Given the description of an element on the screen output the (x, y) to click on. 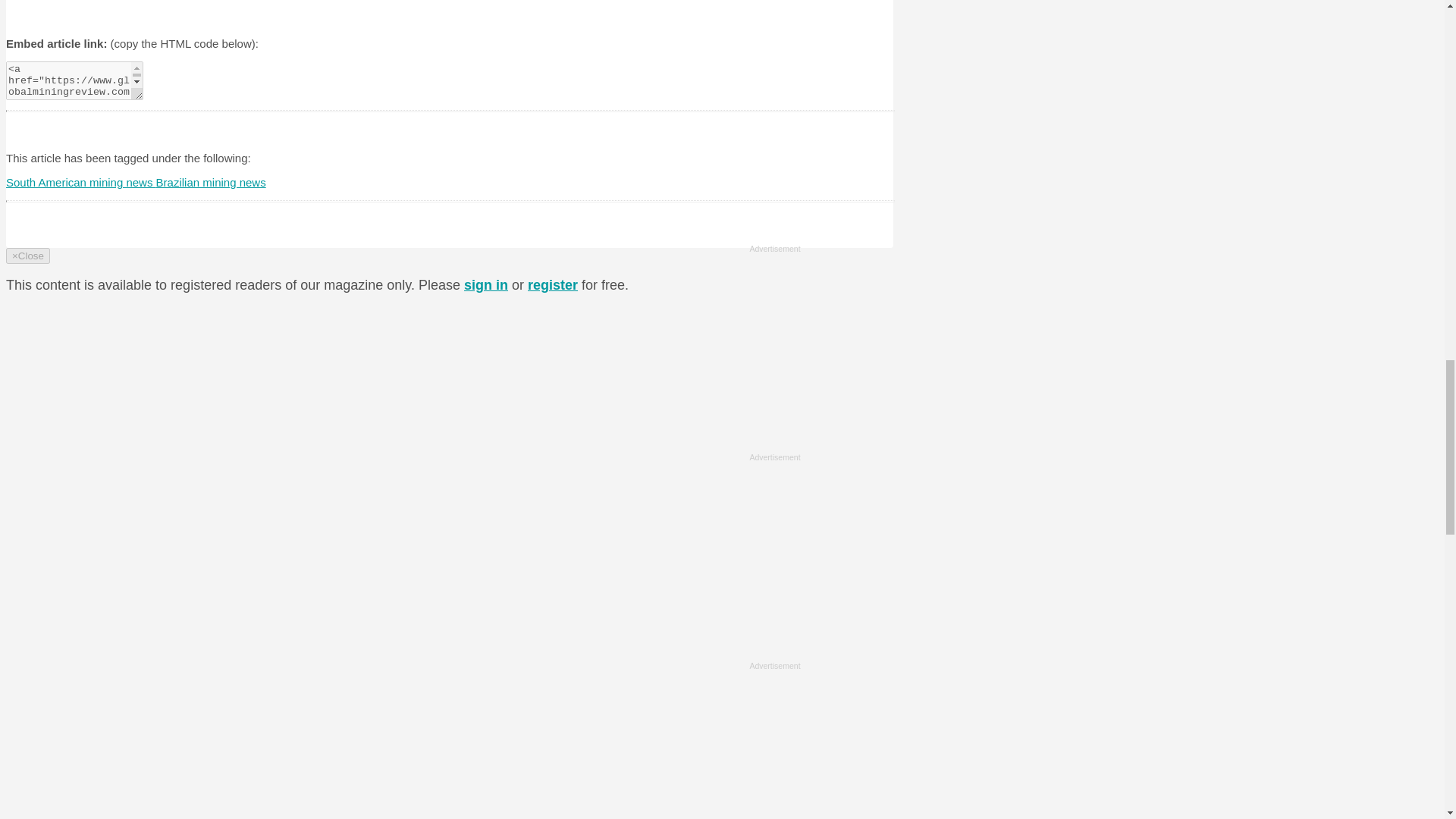
Tags (62, 2)
South American mining news (80, 182)
Brazilian mining news (210, 182)
sign in (486, 284)
register (552, 284)
